Given the description of an element on the screen output the (x, y) to click on. 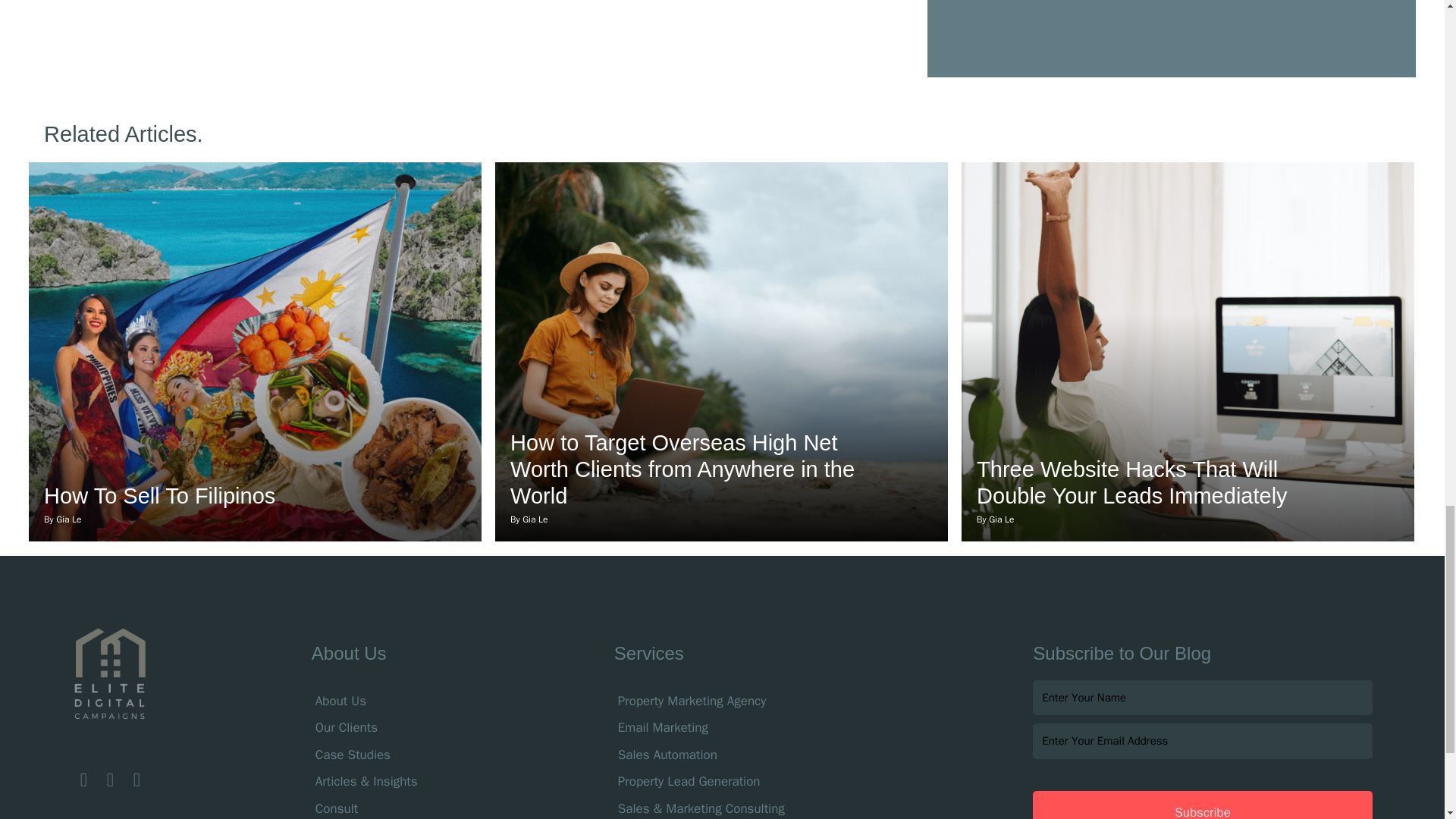
Gia Le (1000, 519)
Three Website Hacks That Will Double Your Leads Immediately (1131, 482)
How To Sell To Filipinos (159, 495)
Gia Le (534, 519)
Gia Le (68, 519)
Three Website Hacks That Will Double Your Leads Immediately (1131, 482)
How To Sell To Filipinos (159, 495)
Subscribe (1201, 805)
